Given the description of an element on the screen output the (x, y) to click on. 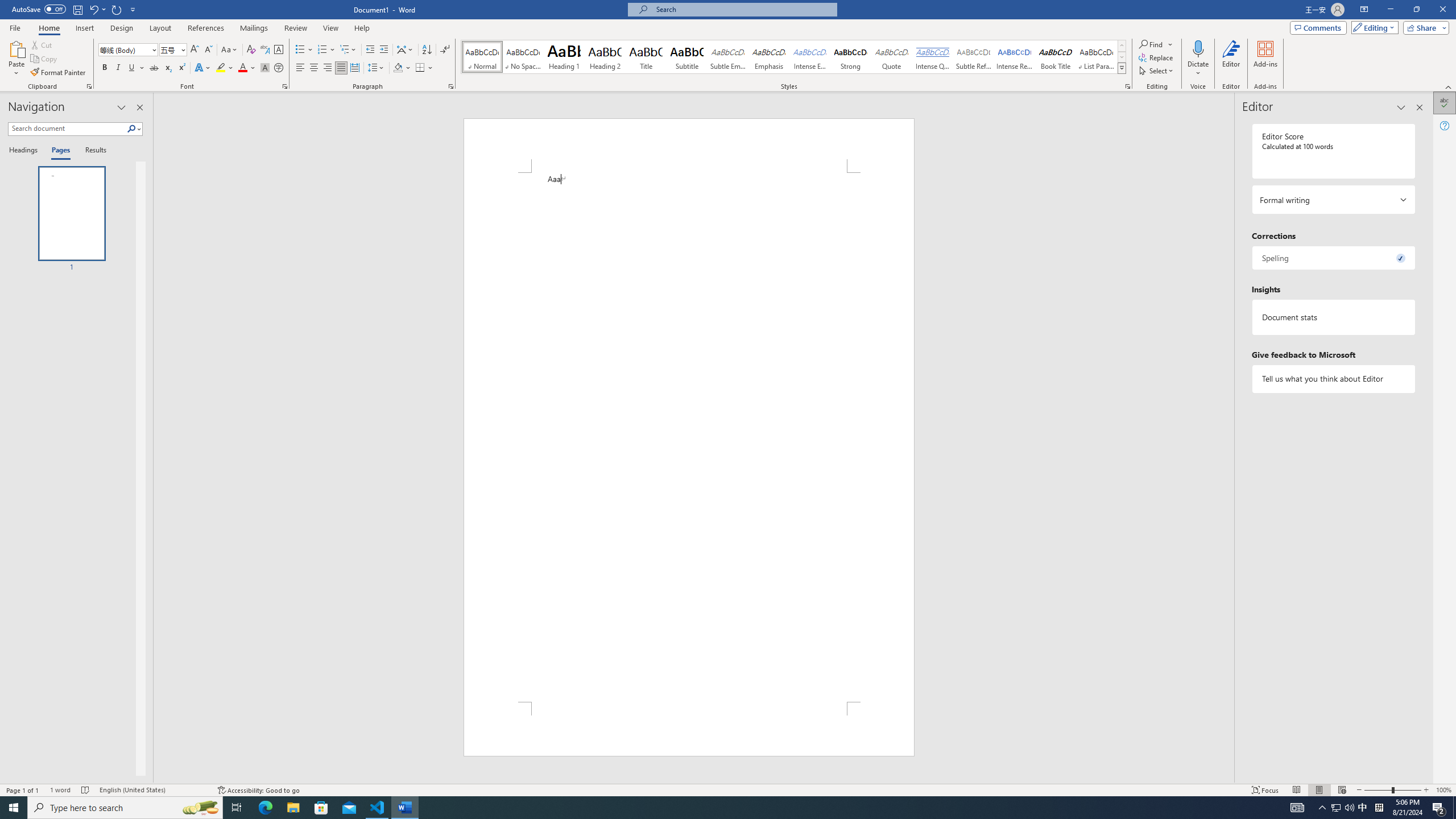
Restore Down (1416, 9)
Shading RGB(0, 0, 0) (397, 67)
Text Effects and Typography (202, 67)
Superscript (180, 67)
Increase Indent (383, 49)
Undo Increase Indent (96, 9)
Grow Font (193, 49)
Change Case (229, 49)
Read Mode (1296, 790)
Find (1151, 44)
Italic (118, 67)
Task Pane Options (121, 107)
Strikethrough (154, 67)
Dictate (1197, 48)
